Given the description of an element on the screen output the (x, y) to click on. 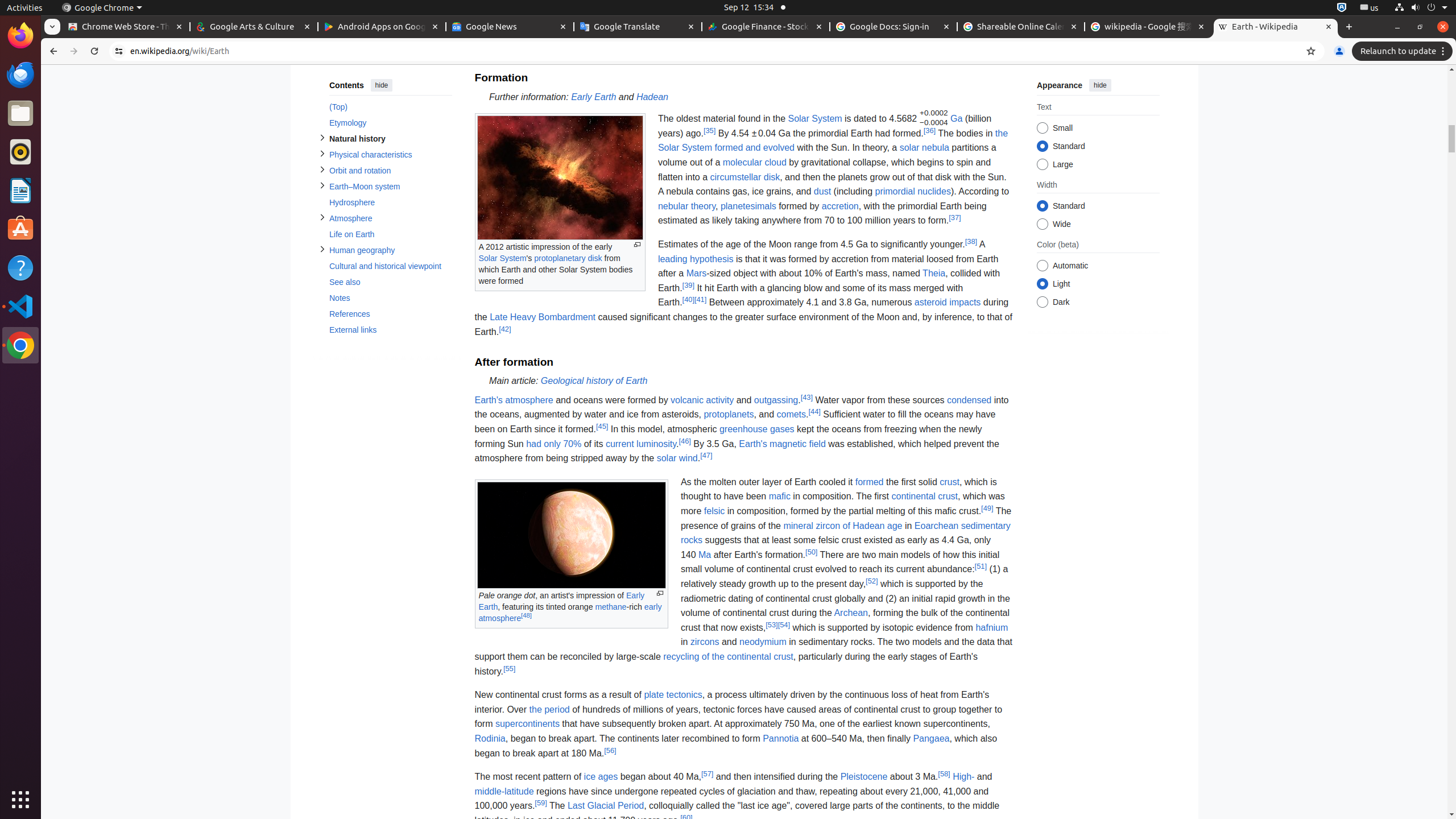
References Element type: link (390, 313)
[54] Element type: link (783, 624)
[43] Element type: link (806, 396)
circumstellar disk Element type: link (744, 176)
crust Element type: link (949, 481)
